Given the description of an element on the screen output the (x, y) to click on. 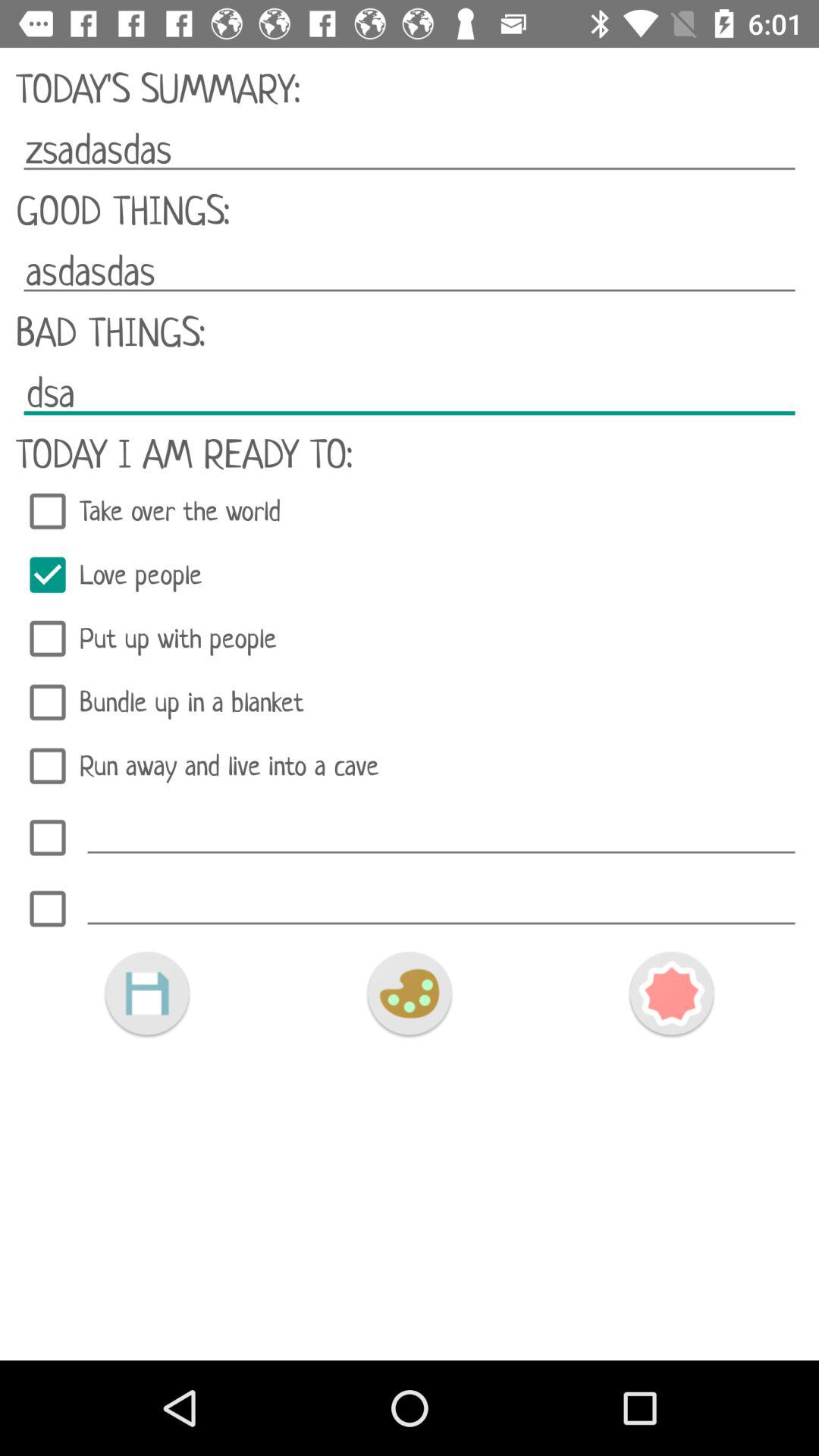
jump to asdasdas item (409, 271)
